Given the description of an element on the screen output the (x, y) to click on. 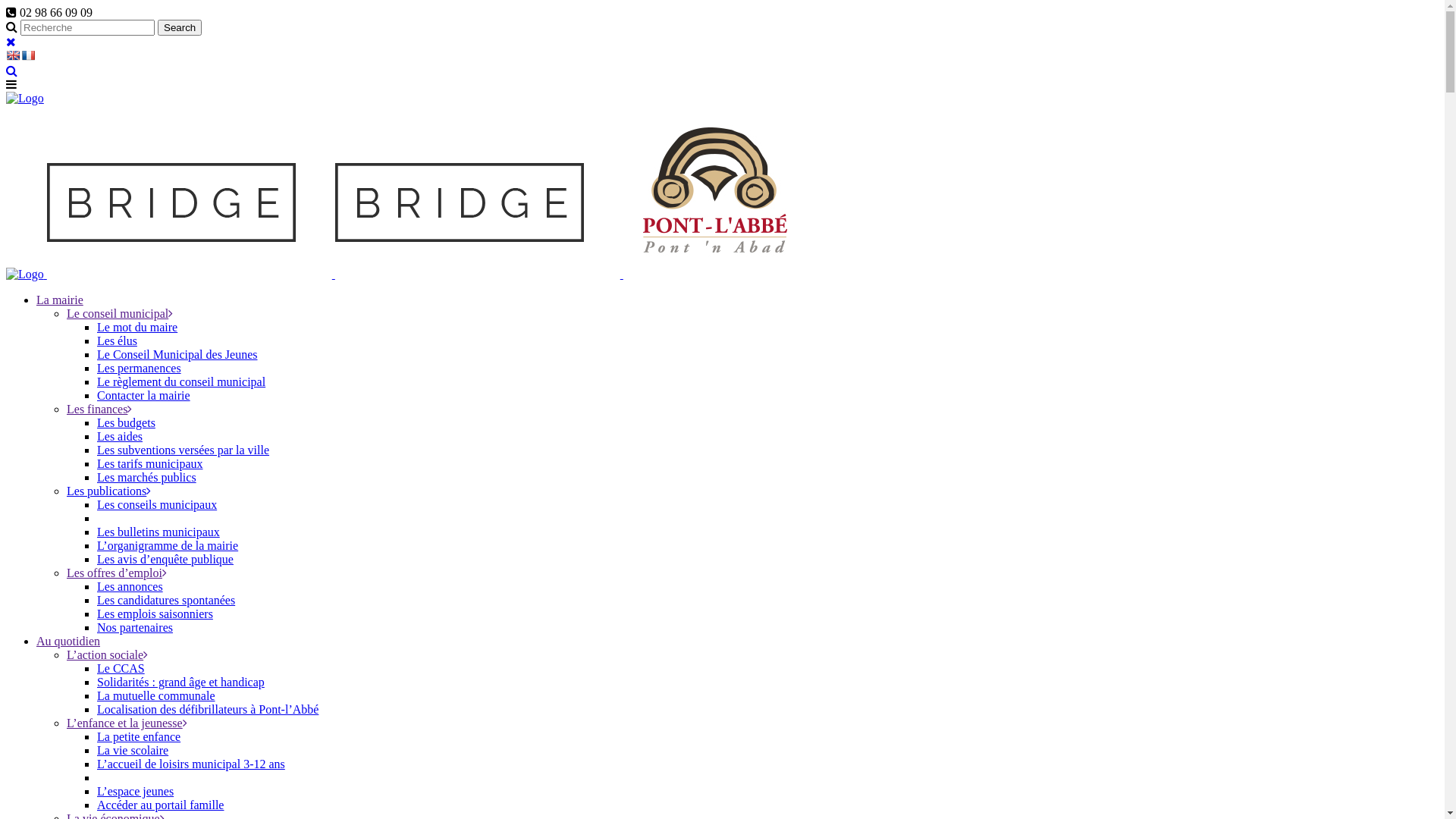
Les conseils municipaux Element type: text (156, 504)
La mairie Element type: text (59, 299)
Le conseil municipal Element type: text (119, 313)
Le CCAS Element type: text (120, 668)
Les aides Element type: text (119, 435)
Search Element type: text (179, 27)
Le Conseil Municipal des Jeunes Element type: text (177, 354)
La petite enfance Element type: text (138, 736)
La mutuelle communale Element type: text (156, 695)
Le mot du maire Element type: text (137, 326)
Les finances Element type: text (98, 408)
Les bulletins municipaux Element type: text (158, 531)
La vie scolaire Element type: text (132, 749)
Les tarifs municipaux Element type: text (150, 463)
French Element type: hover (27, 55)
02 98 66 09 09 Element type: text (49, 12)
Les emplois saisonniers Element type: text (155, 613)
Contacter la mairie Element type: text (143, 395)
Les permanences Element type: text (139, 367)
Les publications Element type: text (108, 490)
Les annonces Element type: text (130, 586)
Les budgets Element type: text (126, 422)
Au quotidien Element type: text (68, 640)
English Element type: hover (12, 55)
Nos partenaires Element type: text (134, 627)
